Given the description of an element on the screen output the (x, y) to click on. 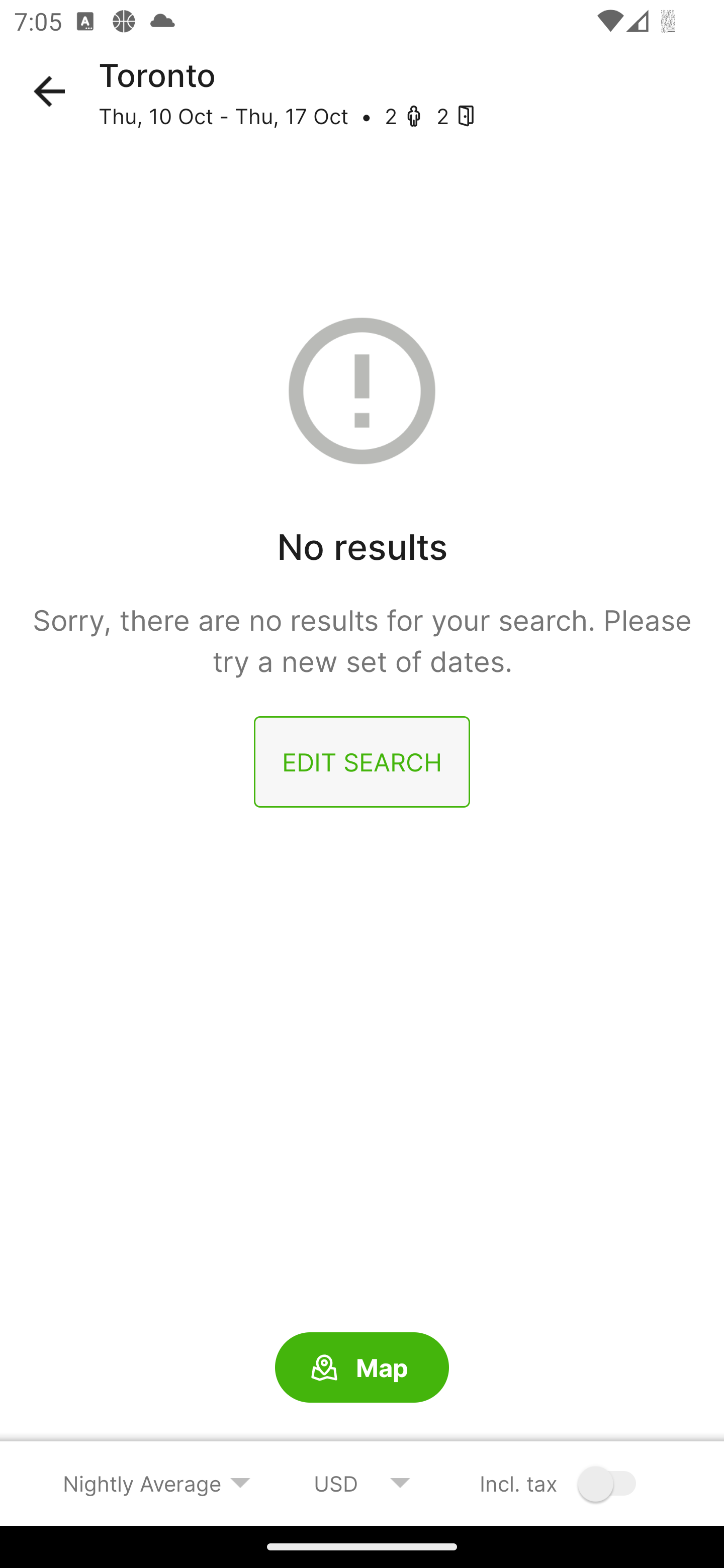
Toronto Thu, 10 Oct - Thu, 17 Oct  •  2 -  2 - (411, 91)
EDIT SEARCH (361, 761)
Map  (361, 1367)
Nightly Average (156, 1482)
USD (361, 1482)
